Given the description of an element on the screen output the (x, y) to click on. 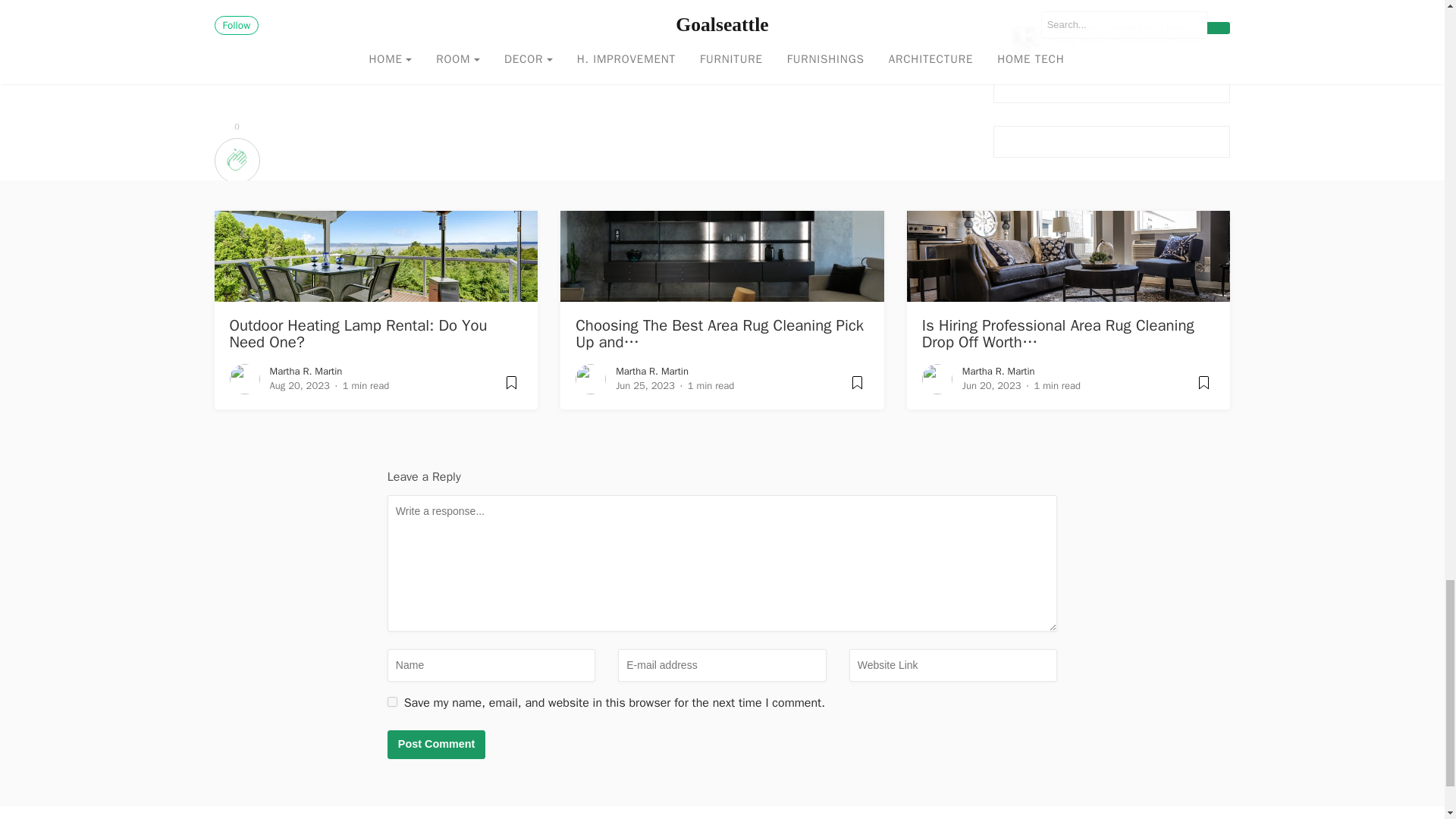
yes (392, 701)
Post Comment (436, 744)
